Given the description of an element on the screen output the (x, y) to click on. 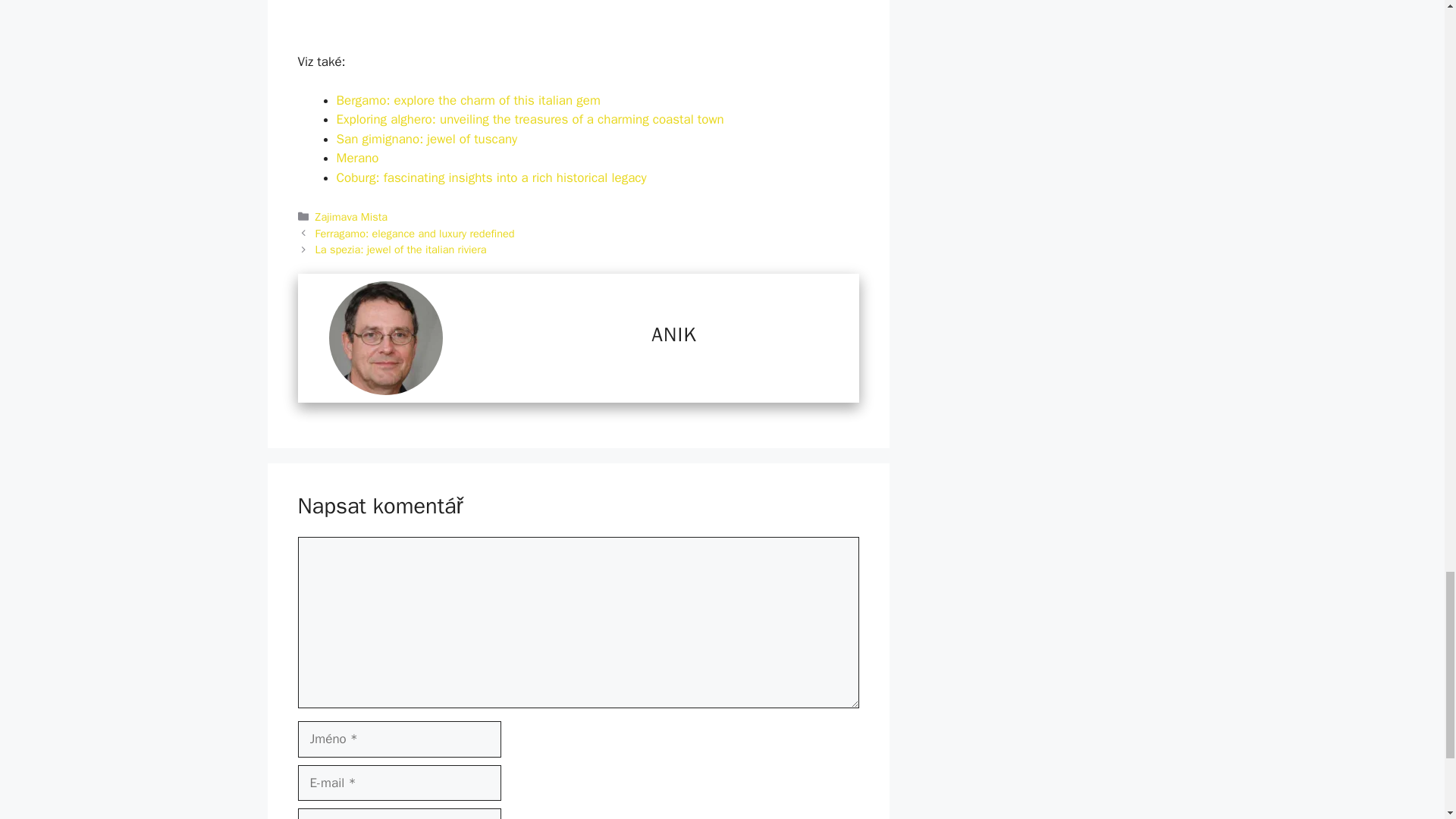
Ferragamo: elegance and luxury redefined (415, 233)
Merano (357, 157)
Coburg: fascinating insights into a rich historical legacy (491, 177)
Zajimava Mista (351, 216)
Coburg: fascinating insights into a rich historical legacy (491, 177)
San gimignano: jewel of tuscany (427, 139)
La spezia: jewel of the italian riviera (400, 249)
Bergamo: explore the charm of this italian gem (467, 100)
